Given the description of an element on the screen output the (x, y) to click on. 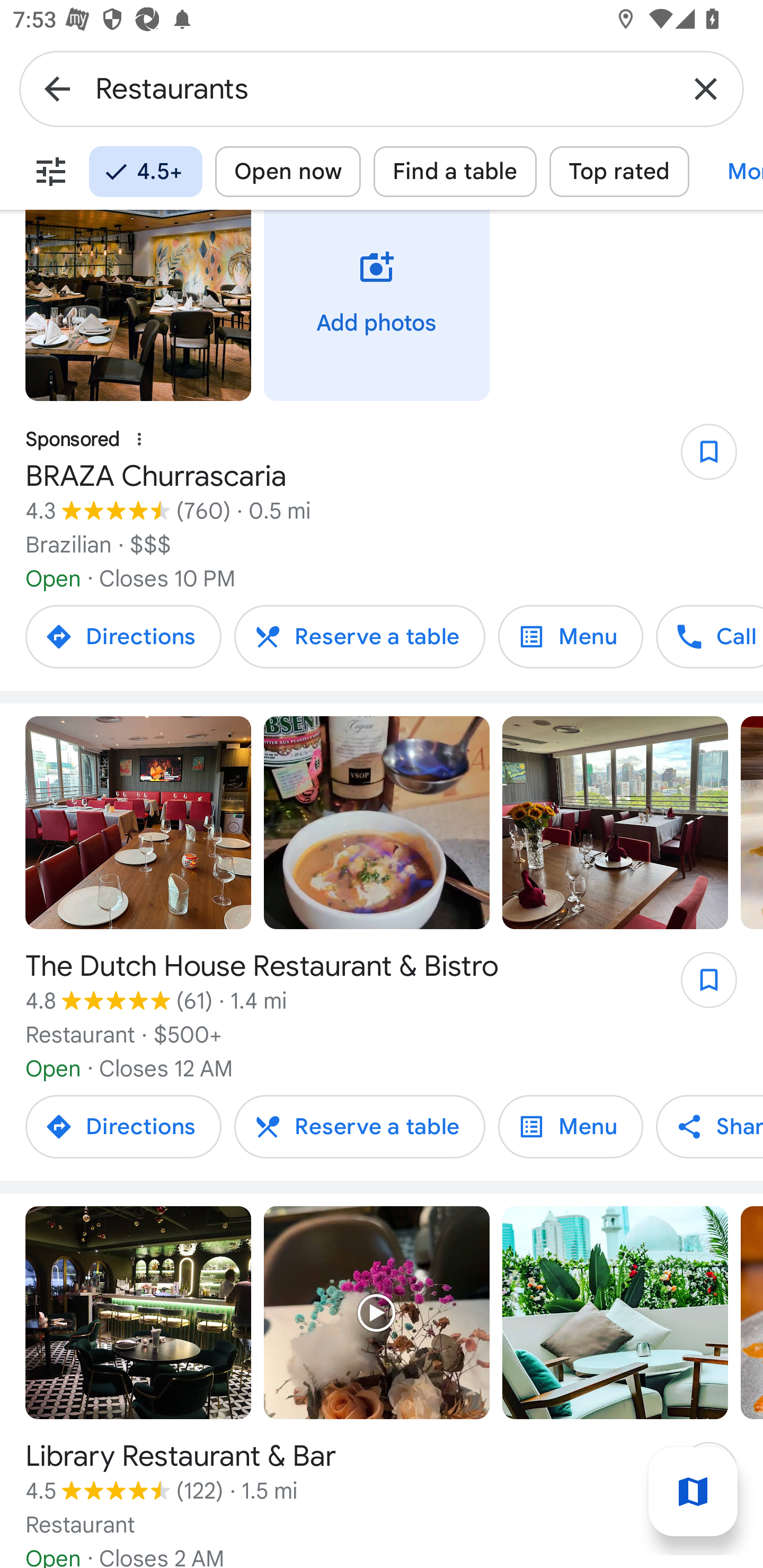
Back (57, 88)
Restaurants (381, 88)
Clear (705, 88)
More filters (50, 171)
4.5+ 4.5+ 4.5+ (145, 171)
Open now Open now Open now (287, 171)
Find a table Find a table Find a table (454, 171)
Top rated Top rated Top rated (618, 171)
Photo (138, 305)
Add photos (376, 305)
About this ad (139, 438)
Save BRAZA Churrascaria to lists (699, 458)
Reserve a table Reserve a table Reserve a table (359, 636)
Photo (138, 822)
Video (376, 822)
Photo (614, 822)
Save The Dutch House Restaurant & Bistro to lists (699, 985)
Reserve a table Reserve a table Reserve a table (359, 1126)
Photo (138, 1312)
Video (376, 1312)
Photo (614, 1312)
View map Map view (692, 1491)
